Given the description of an element on the screen output the (x, y) to click on. 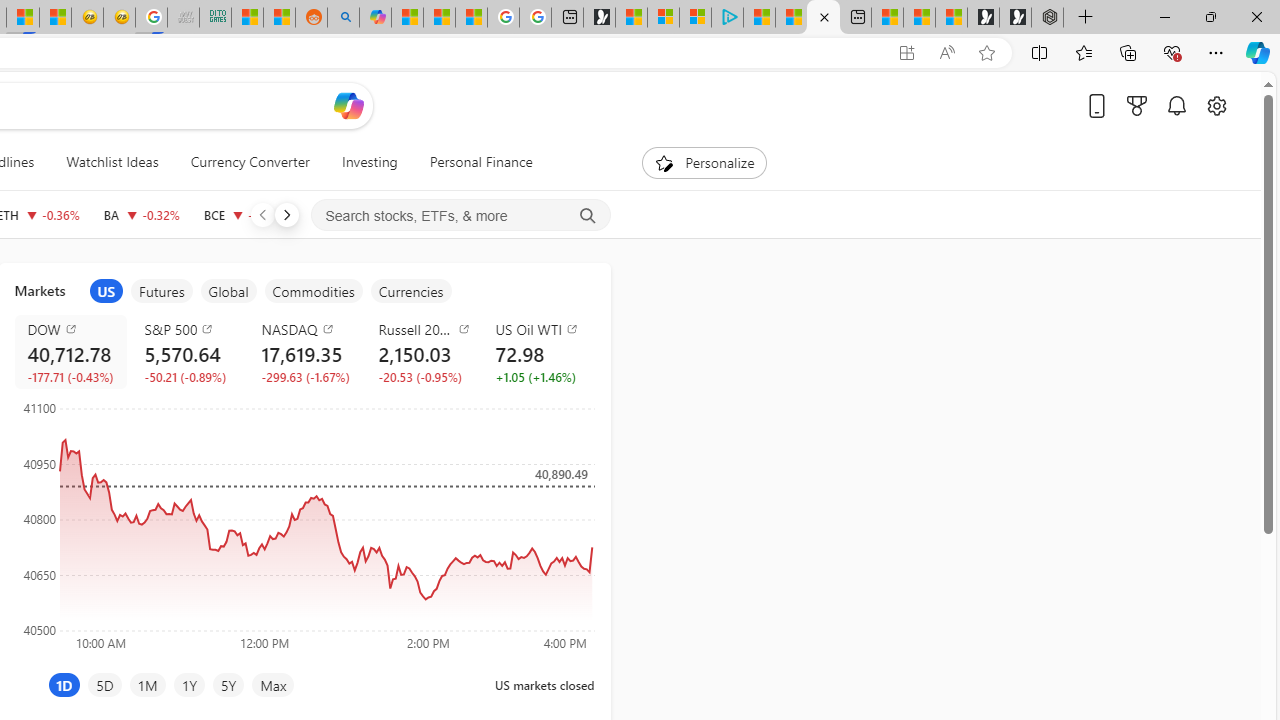
US Oil WTI USOIL increase 72.98 +1.05 +1.46% (538, 351)
App available. Install Start Money (906, 53)
Next (286, 214)
NASDAQ COMP decrease 17,619.35 -299.63 -1.67% (304, 351)
US Oil WTI (541, 328)
Utah sues federal government - Search (343, 17)
Microsoft rewards (1137, 105)
1Y (188, 684)
Notifications (1176, 105)
Copilot (Ctrl+Shift+.) (1258, 52)
MSNBC - MSN (246, 17)
